Given the description of an element on the screen output the (x, y) to click on. 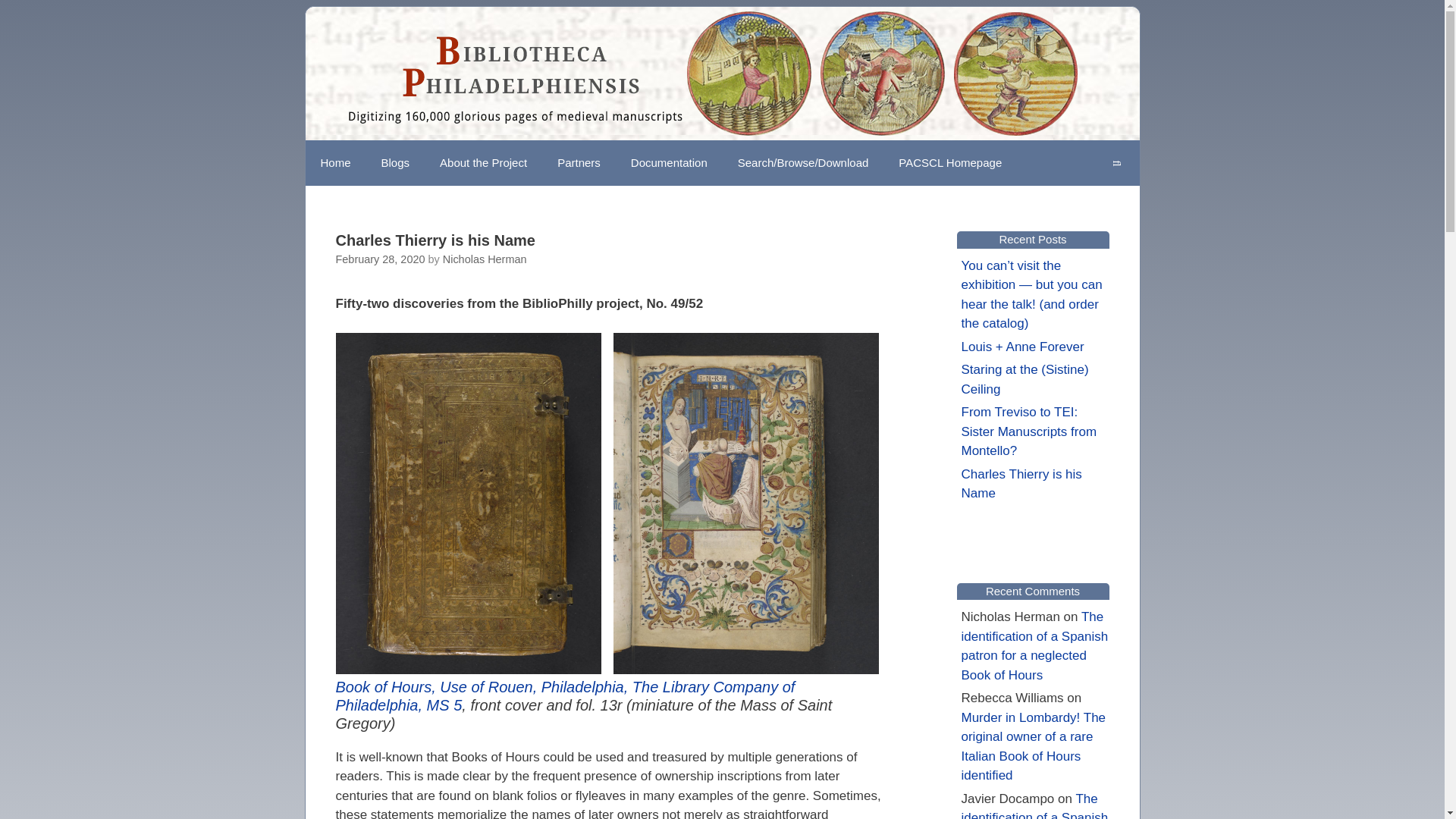
6:00 am (379, 259)
Home (334, 162)
Search (1116, 162)
Bibliotheca Philadelphiensis (708, 73)
February 28, 2020 (379, 259)
Blogs (395, 162)
About the Project (483, 162)
Search (1116, 162)
Documentation (668, 162)
PACSCL Homepage (949, 162)
